Given the description of an element on the screen output the (x, y) to click on. 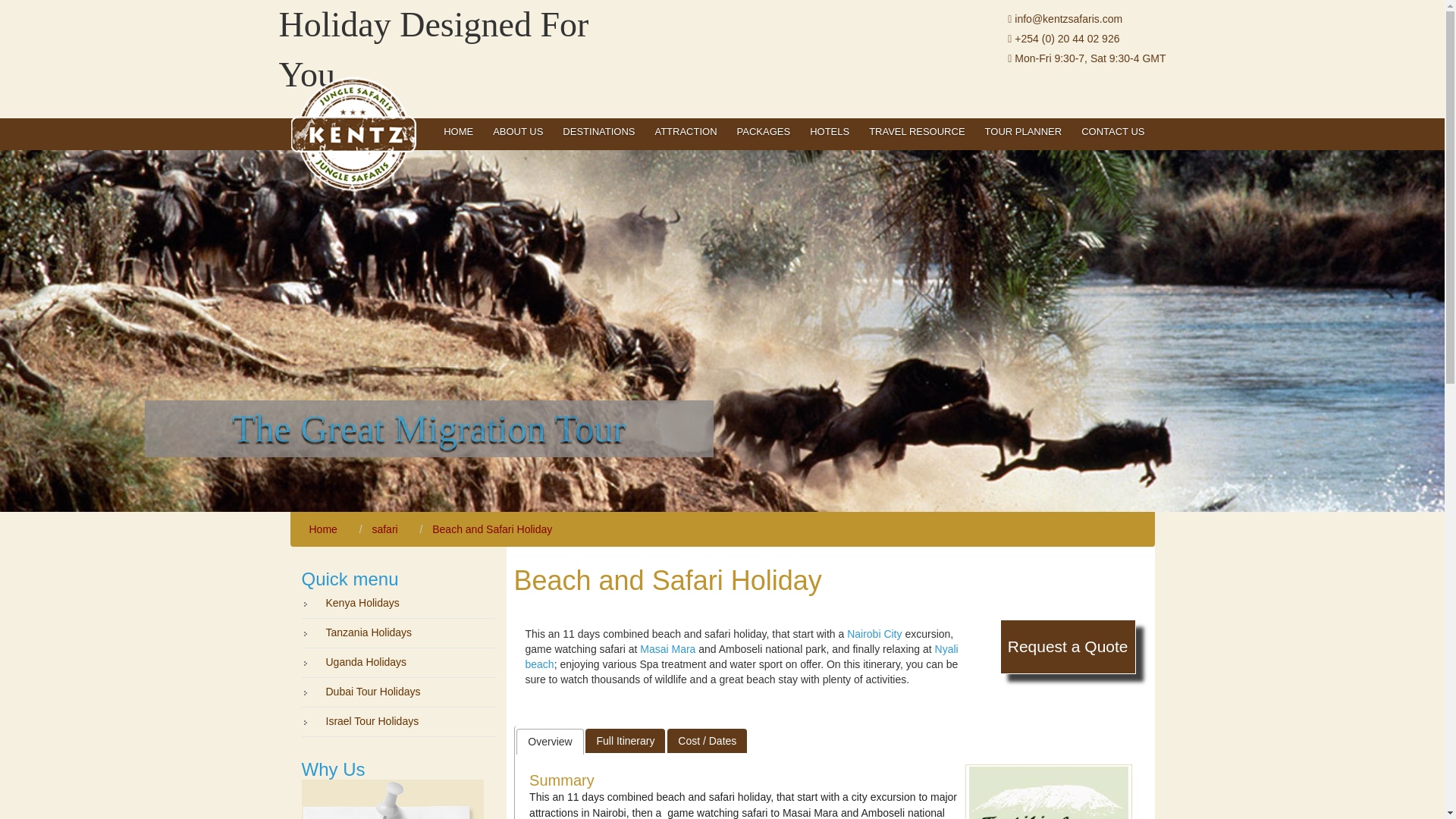
TRAVEL RESOURCE (916, 131)
ABOUT US (518, 131)
TOUR PLANNER (1023, 131)
Full Itinerary (625, 740)
ATTRACTION (685, 131)
About Nyali beach (741, 656)
About Masai Mara National park (667, 648)
CONTACT US (1112, 131)
Overview (549, 741)
PACKAGES (763, 131)
